Given the description of an element on the screen output the (x, y) to click on. 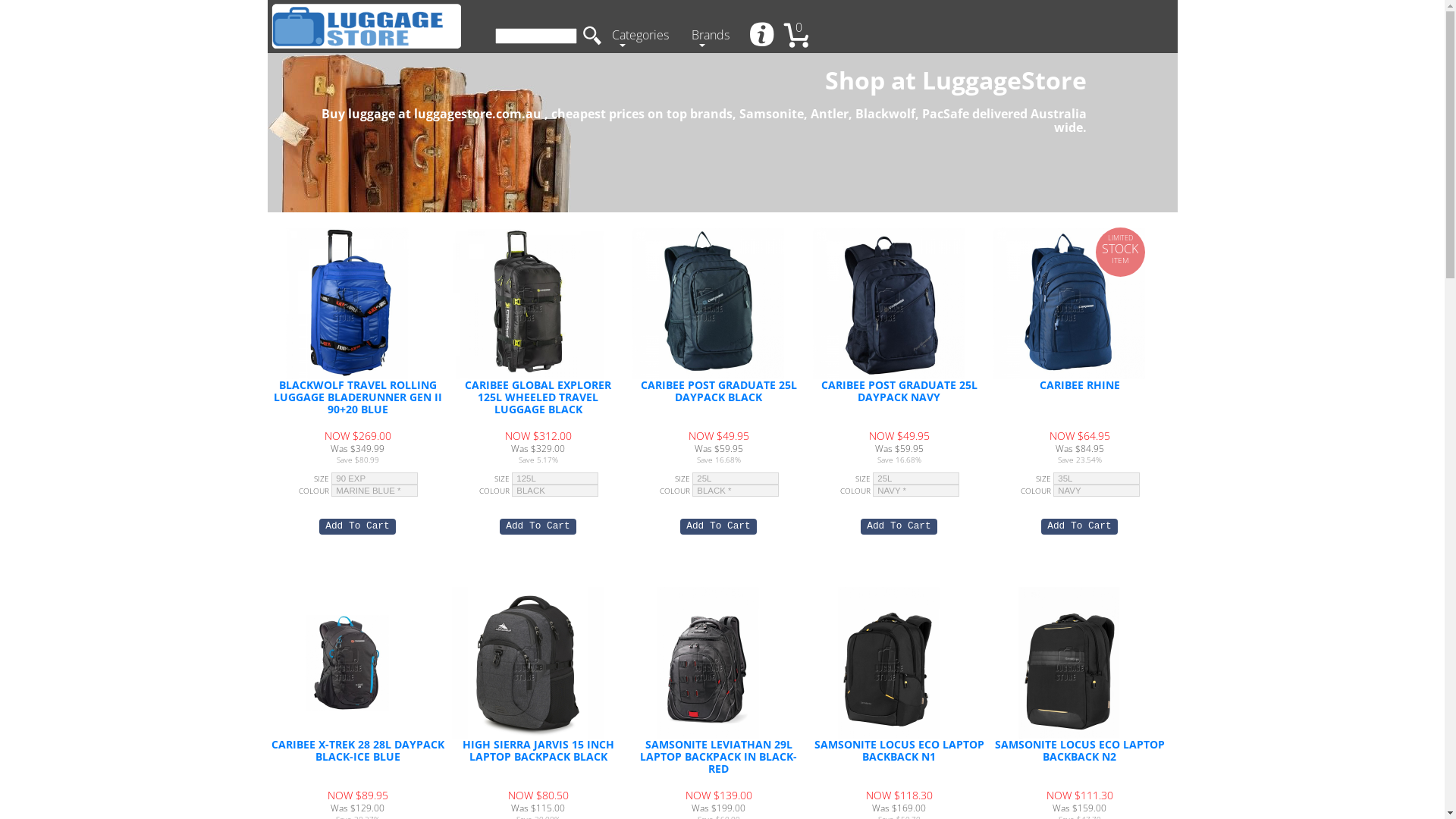
Brands Element type: text (714, 36)
HIGH SIERRA JARVIS  15 INCH LAPTOP BACKPACK BLACK Element type: hover (527, 662)
search Element type: hover (591, 35)
CARIBEE GLOBAL EXPLORER 125L WHEELED TRAVEL LUGGAGE BLACK Element type: text (537, 397)
LuggageStore Element type: hover (366, 26)
SAMSONITE LOCUS ECO LAPTOP BACKBACK N2 Element type: hover (1069, 662)
SAMSONITE LEVIATHAN 29L LAPTOP BACKPACK IN BLACK-RED Element type: text (718, 756)
  Element type: text (762, 35)
Categories Element type: text (643, 36)
CARIBEE RHINE Element type: text (1079, 385)
CARIBEE POST GRADUATE 25L DAYPACK NAVY Element type: hover (888, 303)
Product Search Element type: hover (535, 35)
Add To Cart Element type: text (1079, 526)
SAMSONITE LOCUS ECO LAPTOP BACKBACK N1 Element type: hover (888, 662)
CARIBEE X-TREK 28 28L DAYPACK BLACK-ICE BLUE Element type: hover (347, 662)
About Us Element type: hover (762, 35)
CARIBEE GLOBAL EXPLORER 125L WHEELED TRAVEL LUGGAGE BLACK Element type: hover (527, 303)
SAMSONITE LOCUS ECO LAPTOP BACKBACK N2 Element type: text (1079, 750)
Add To Cart Element type: text (357, 526)
CARIBEE X-TREK 28 28L DAYPACK BLACK-ICE BLUE Element type: text (357, 750)
HIGH SIERRA JARVIS 15 INCH LAPTOP BACKPACK BLACK Element type: text (537, 750)
CARIBEE POST GRADUATE 25L DAYPACK BLACK Element type: text (718, 391)
CARIBEE POST GRADUATE 25L DAYPACK NAVY Element type: text (898, 391)
Add To Cart Element type: text (537, 526)
CARIBEE RHINE Element type: hover (1069, 303)
SAMSONITE LOCUS ECO LAPTOP BACKBACK N1 Element type: text (898, 750)
Add To Cart Element type: text (718, 526)
SAMSONITE LEVIATHAN 29L LAPTOP BACKPACK IN BLACK-RED Element type: hover (708, 662)
CARIBEE POST GRADUATE 25L DAYPACK BLACK Element type: hover (708, 303)
Add To Cart Element type: text (898, 526)
0 Element type: text (801, 36)
